Given the description of an element on the screen output the (x, y) to click on. 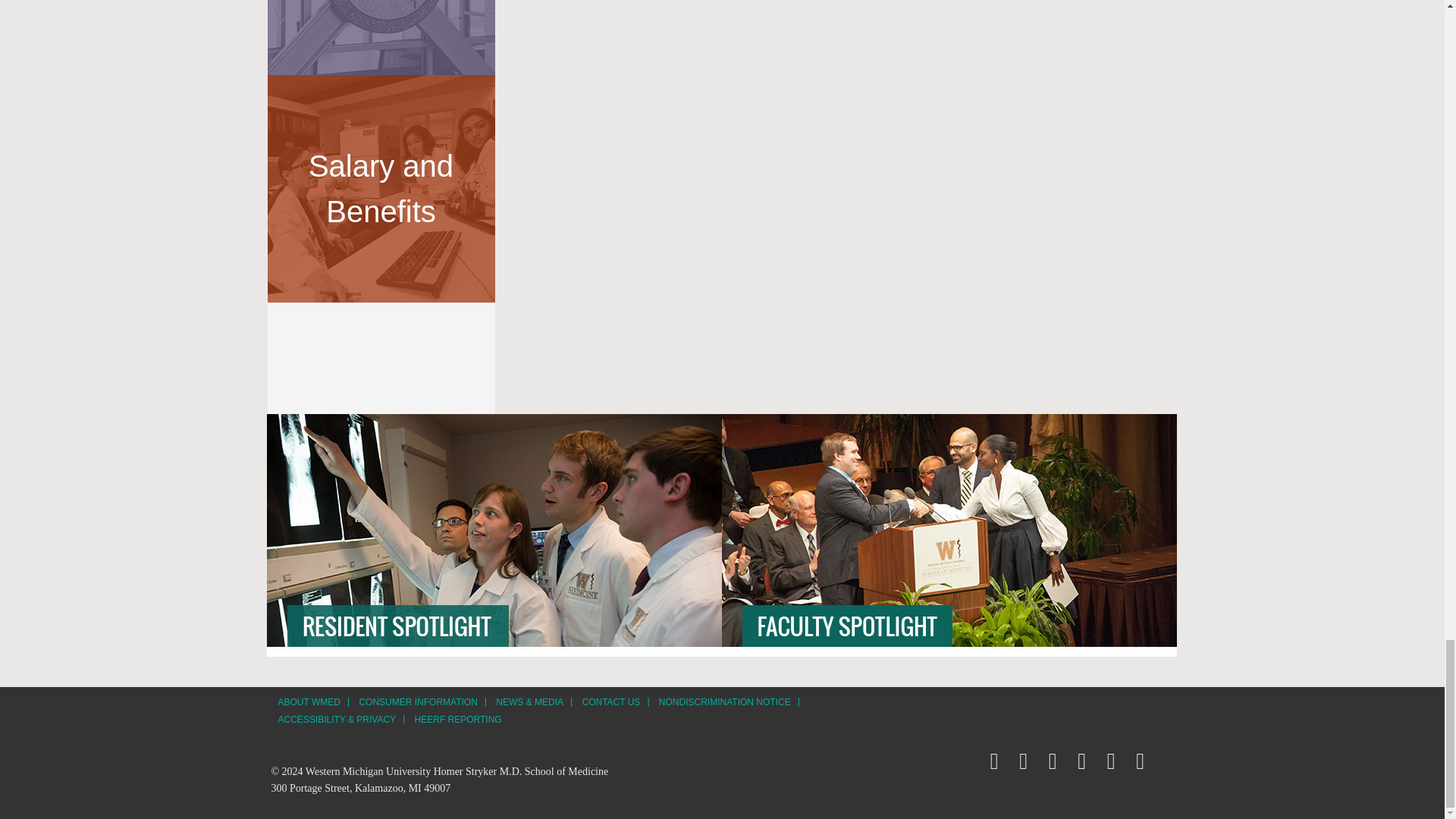
resident spotlight (494, 535)
HEERF REPORTING (458, 719)
faculty spotlight (949, 535)
CONSUMER INFORMATION (417, 701)
NONDISCRIMINATION NOTICE (724, 701)
ABOUT WMED (308, 701)
Salary and Benefits (380, 188)
CONTACT US (610, 701)
Yellowstone and WMed (380, 37)
